Given the description of an element on the screen output the (x, y) to click on. 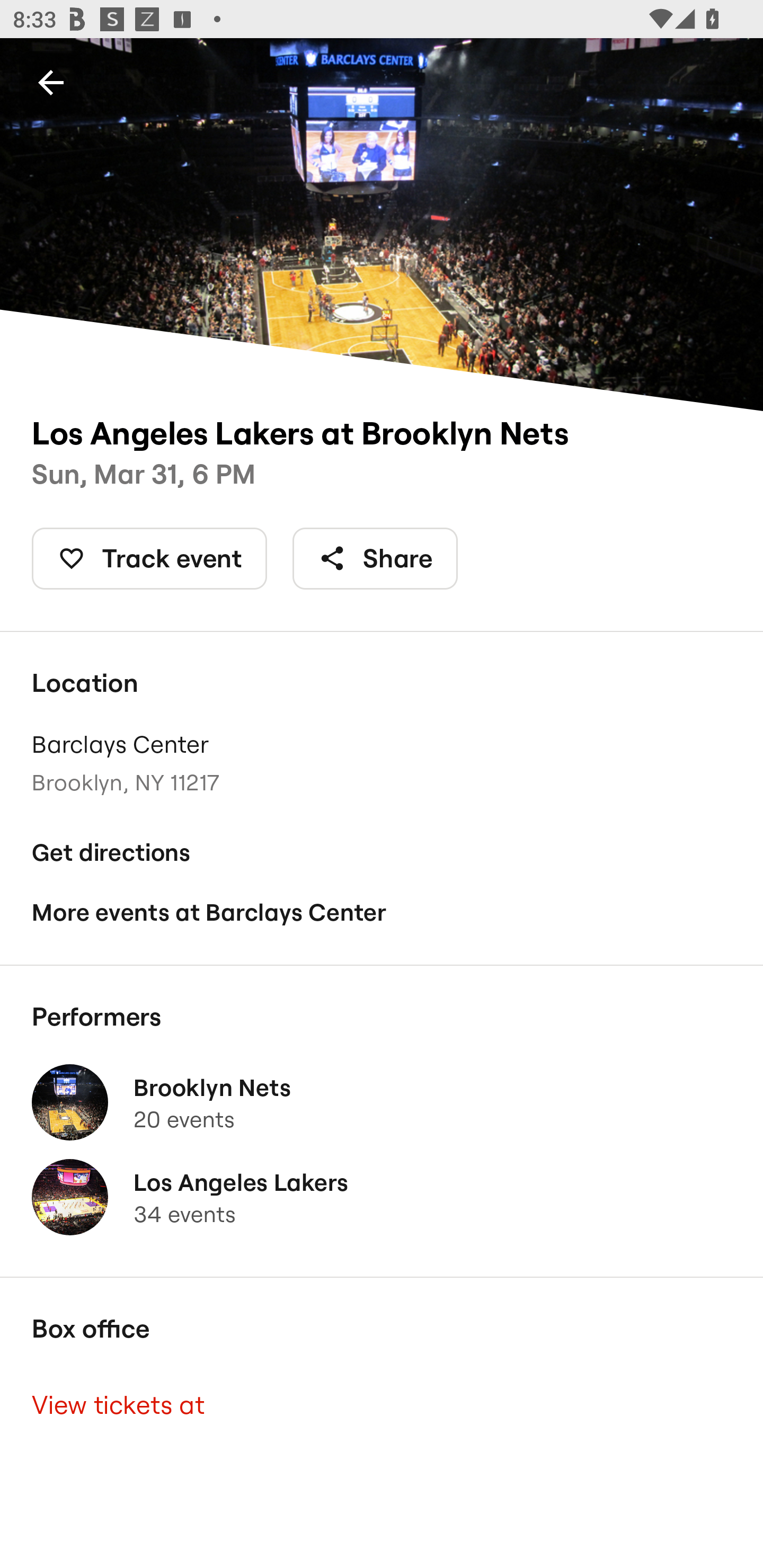
Back (50, 81)
Track event (149, 557)
Share (374, 557)
Get directions (381, 852)
More events at Barclays Center (381, 912)
Brooklyn Nets 20 events (381, 1102)
Los Angeles Lakers 34 events (381, 1196)
View tickets at  (381, 1405)
